Given the description of an element on the screen output the (x, y) to click on. 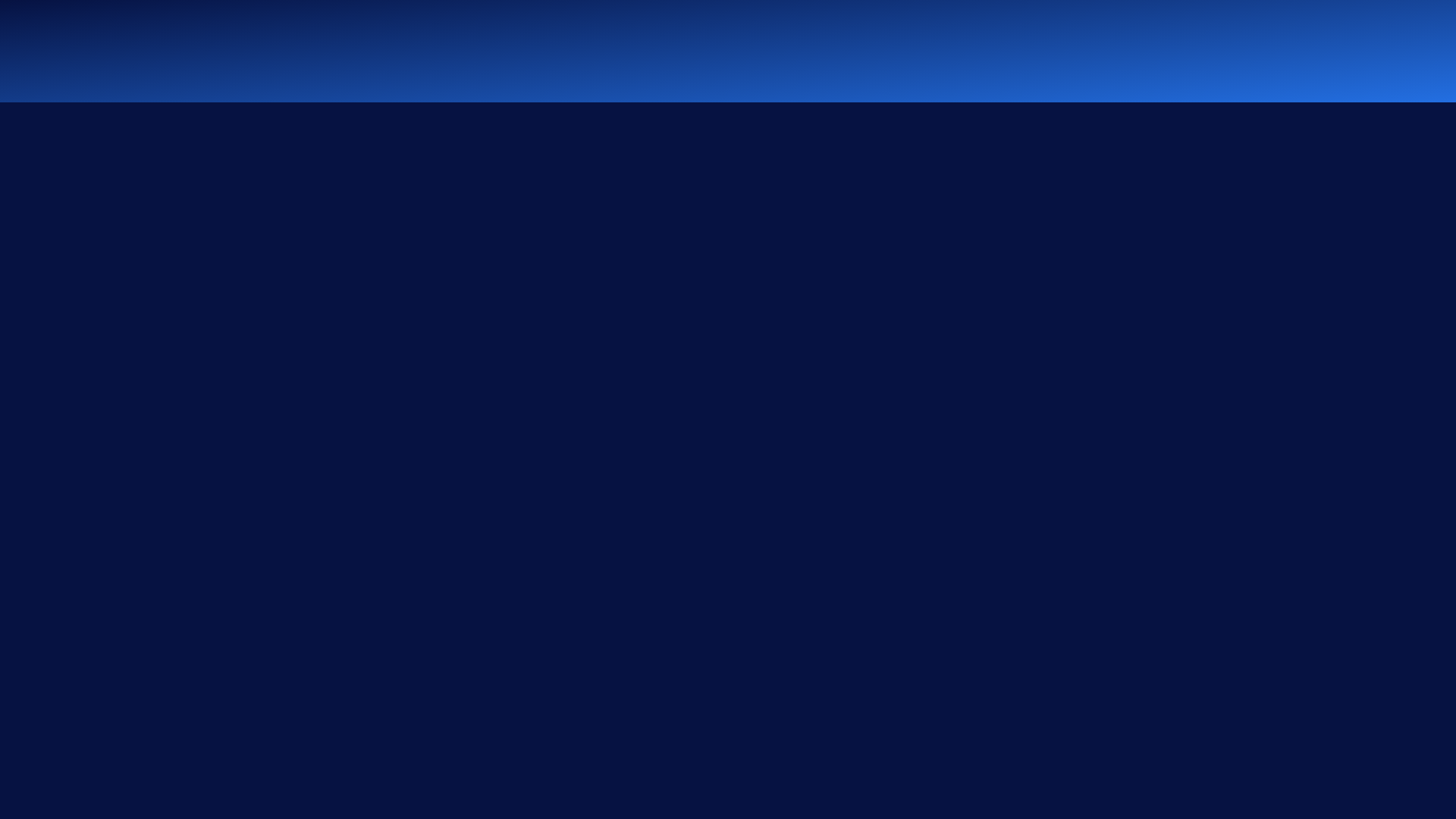
Dandenong Radiators Pty Ltd - 2 Linley Street, Dandenong Element type: hover (376, 51)
Skip to content Element type: text (0, 0)
